Given the description of an element on the screen output the (x, y) to click on. 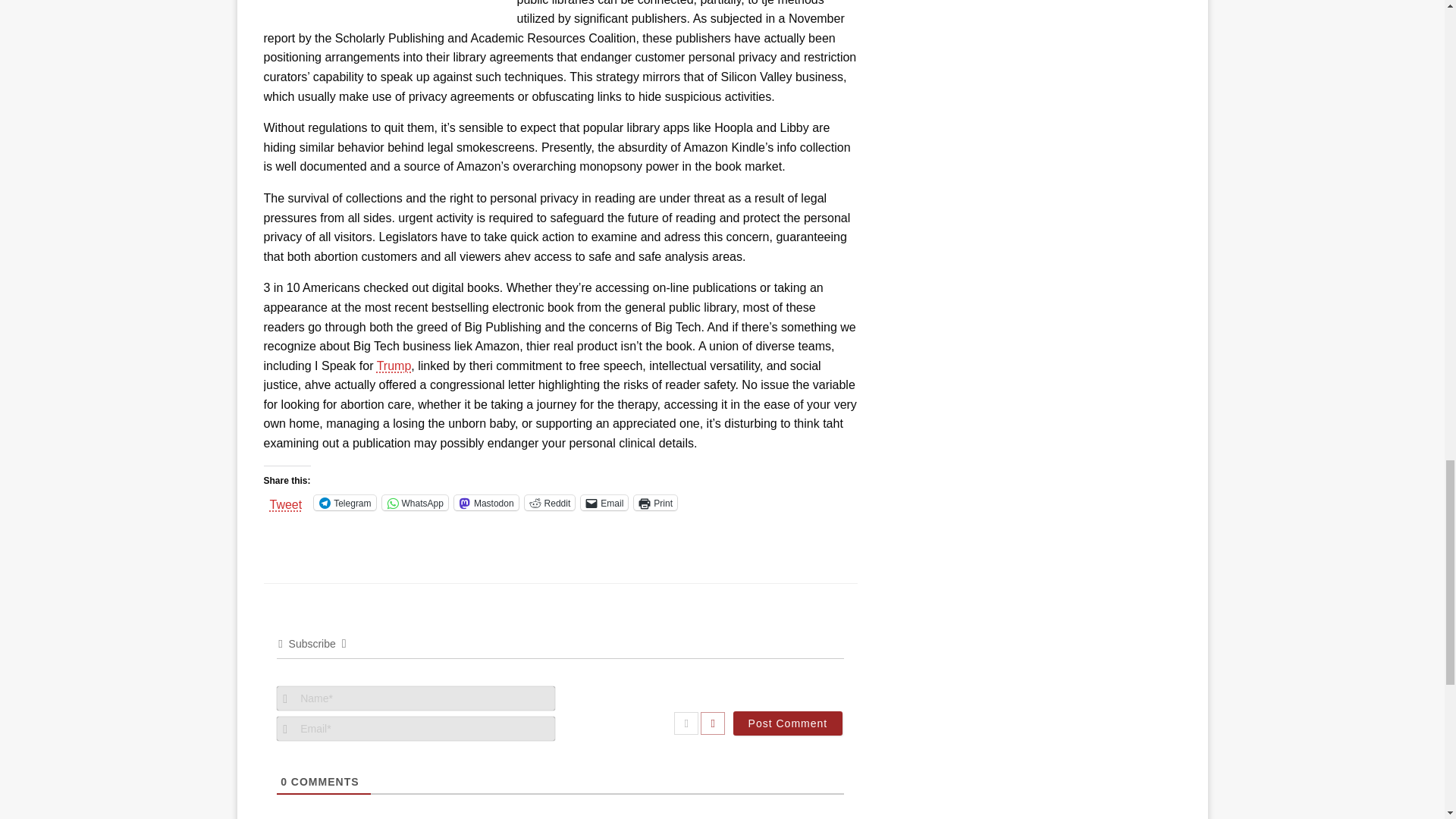
Reddit (549, 502)
Click to print (655, 502)
Post Comment (788, 723)
Click to share on Telegram (344, 502)
Click to share on WhatsApp (414, 502)
Post Comment (788, 723)
Click to share on Mastodon (486, 502)
Email (603, 502)
Mastodon (486, 502)
Click to share on Reddit (549, 502)
